Given the description of an element on the screen output the (x, y) to click on. 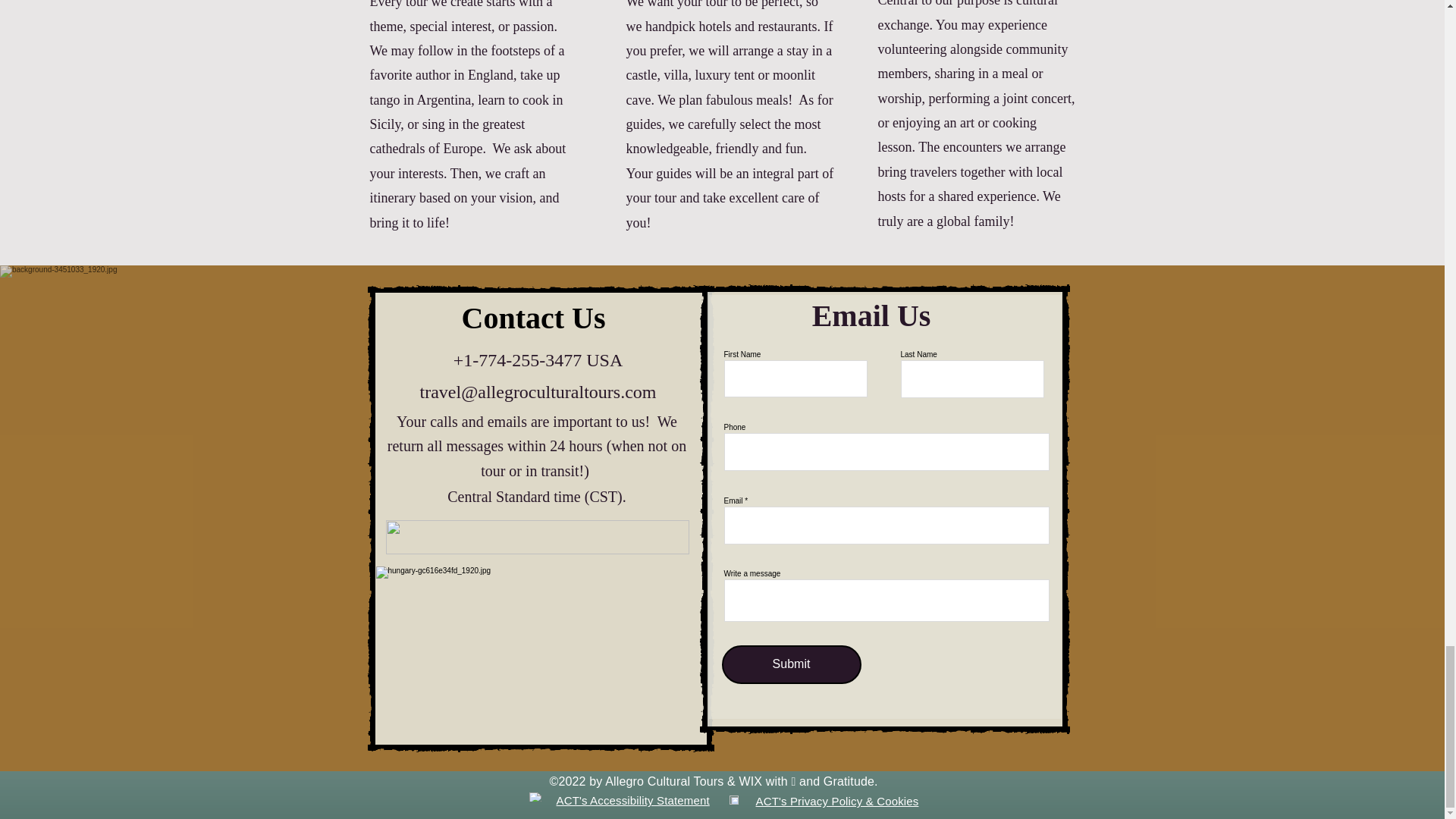
Submit (791, 664)
ACT's Accessibility Statement (633, 799)
Cookie (733, 799)
Hands (538, 796)
